Given the description of an element on the screen output the (x, y) to click on. 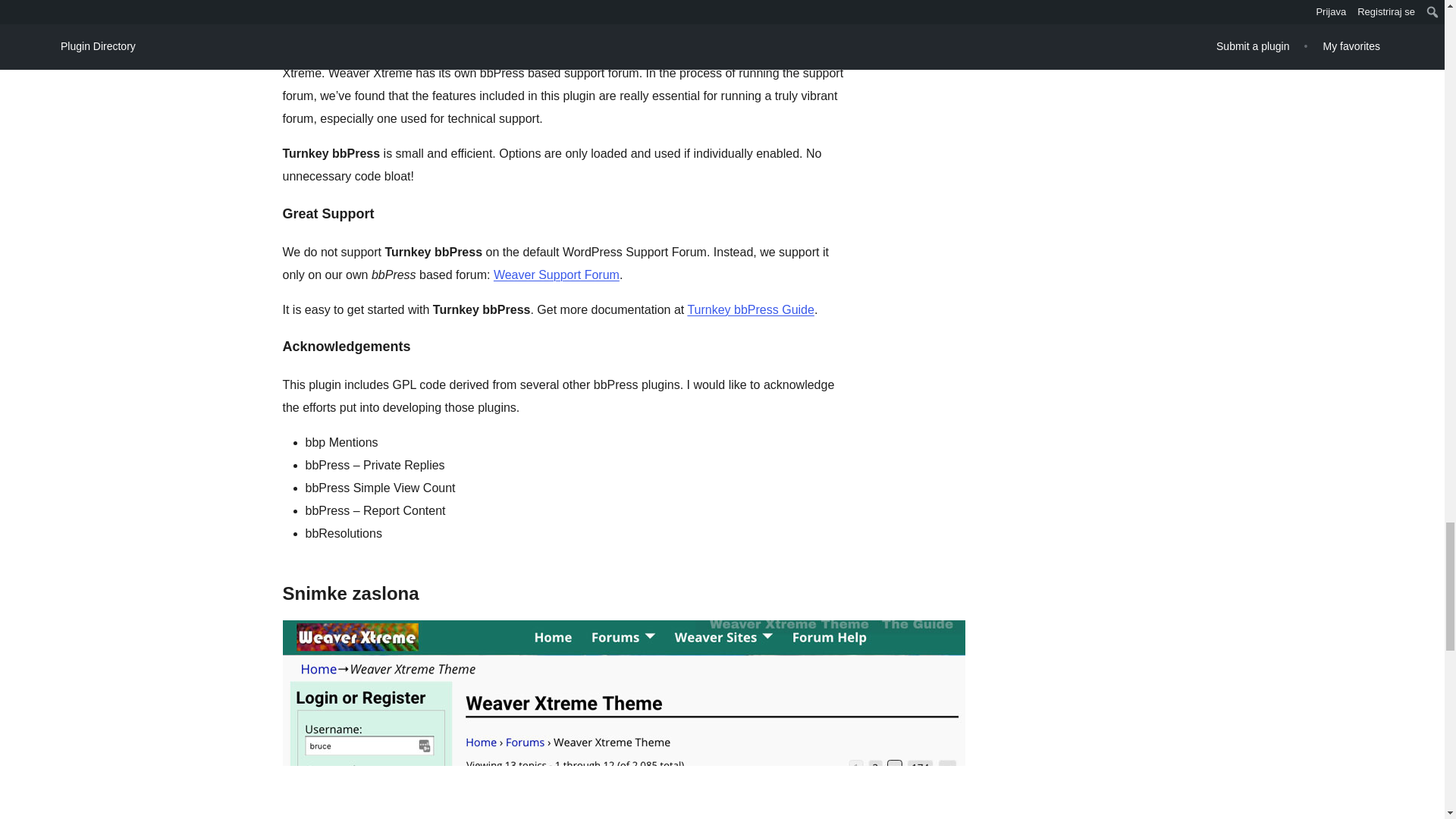
Turnkey bbPress Guide (750, 309)
Weaver Support Forum (556, 274)
